Given the description of an element on the screen output the (x, y) to click on. 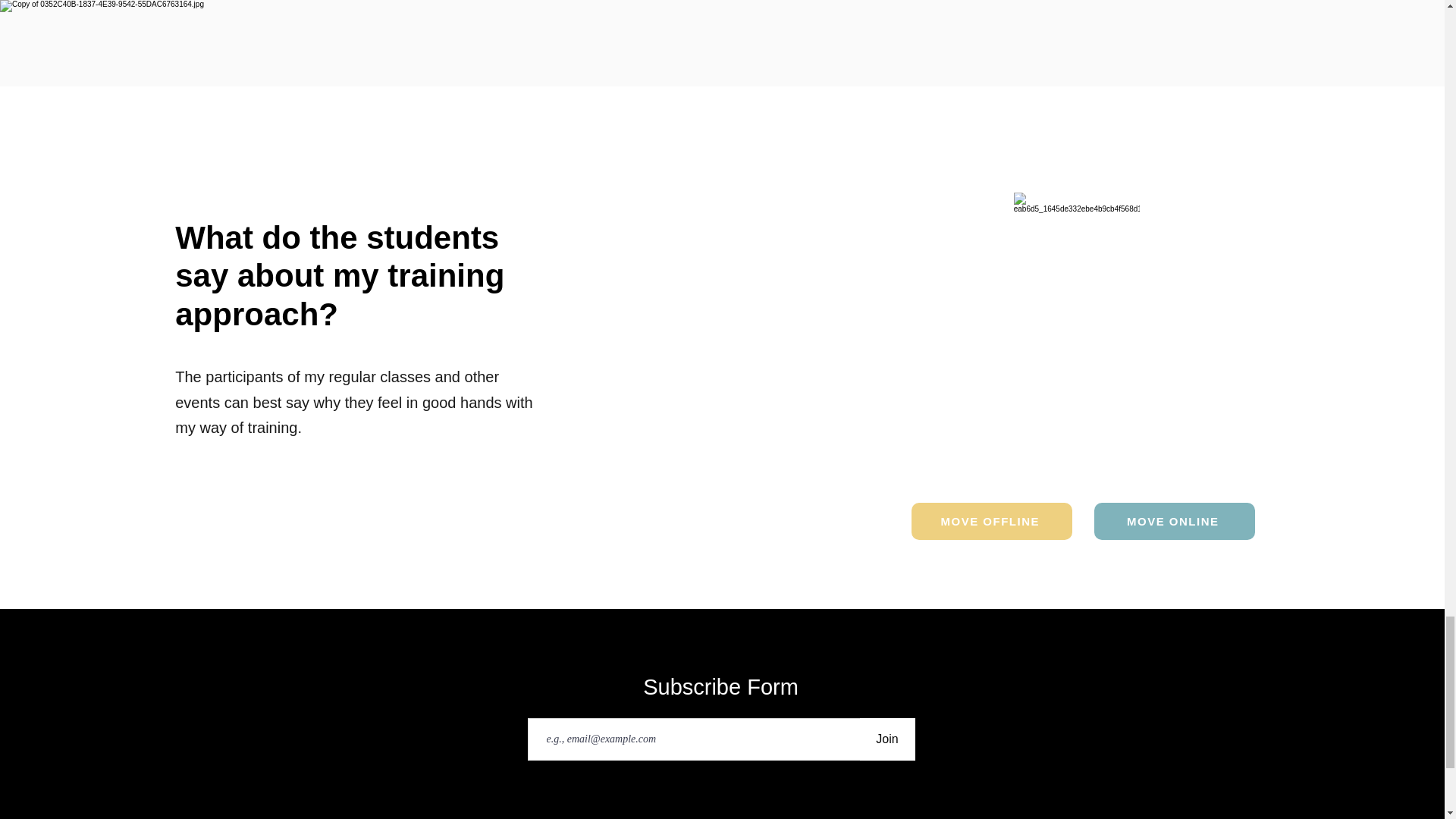
MOVE OFFLINE (991, 520)
Join (887, 739)
MOVE ONLINE (1174, 520)
